Given the description of an element on the screen output the (x, y) to click on. 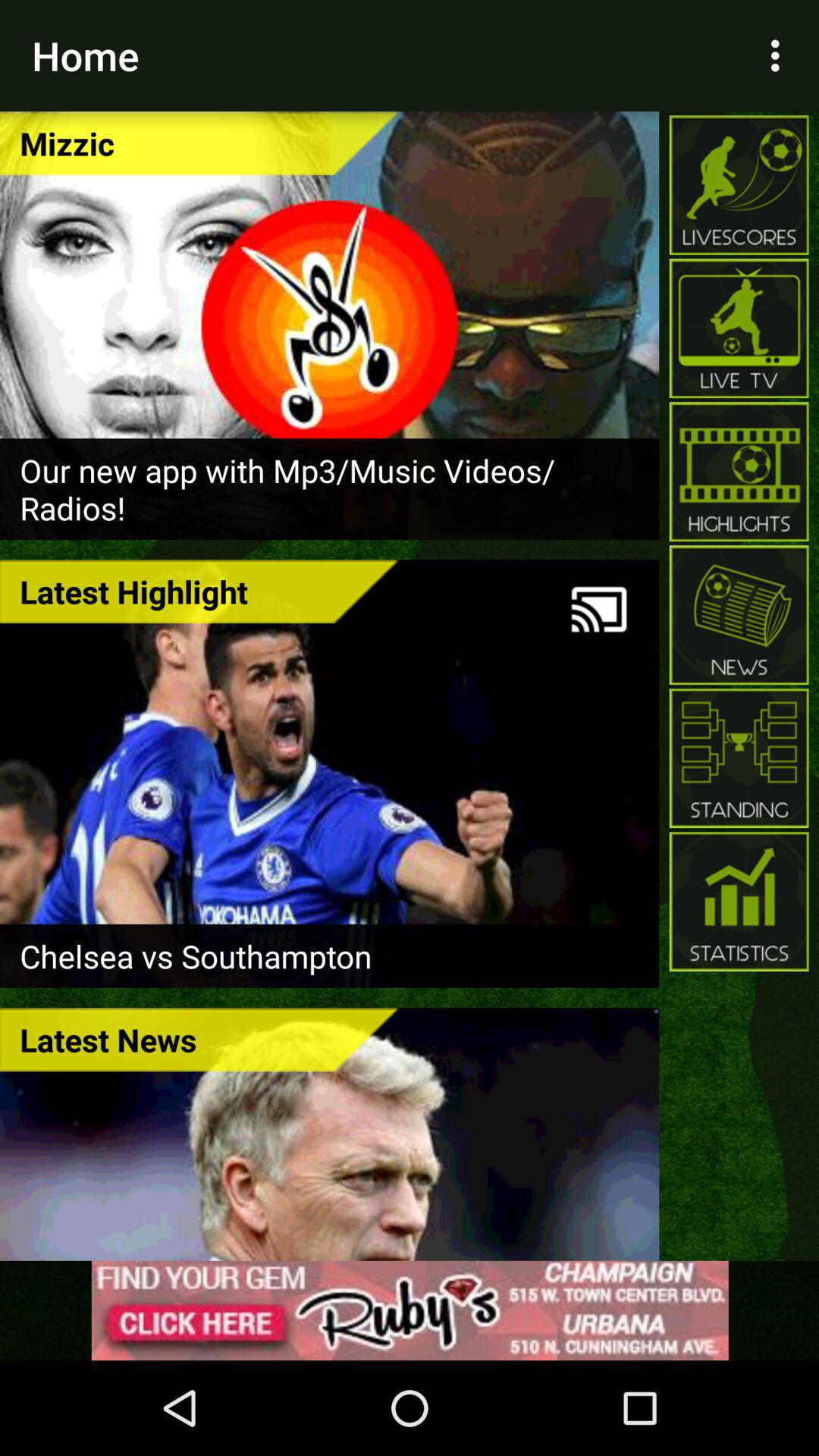
click to play video on a tv (599, 609)
